Given the description of an element on the screen output the (x, y) to click on. 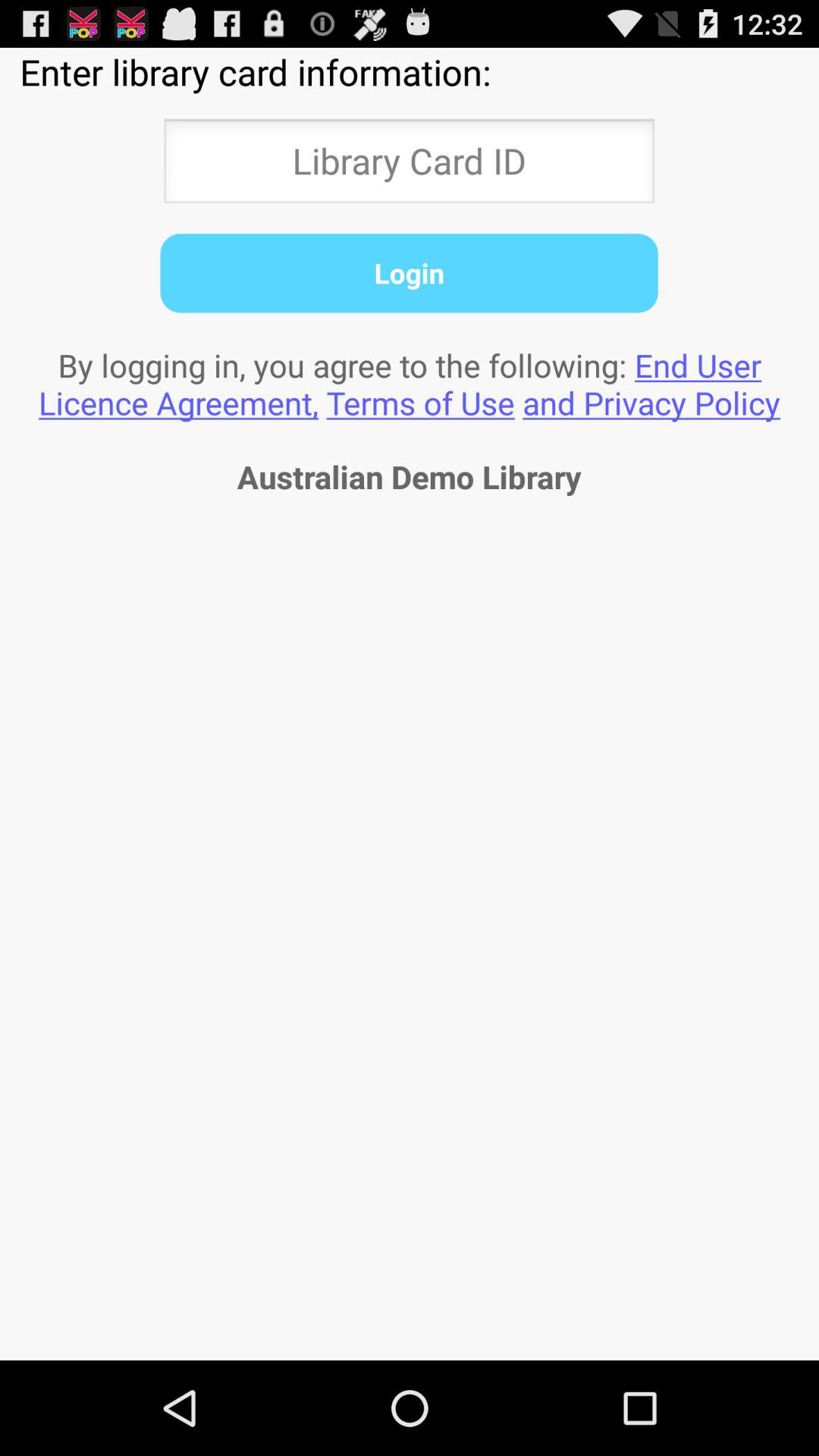
jump to by logging in item (409, 383)
